Given the description of an element on the screen output the (x, y) to click on. 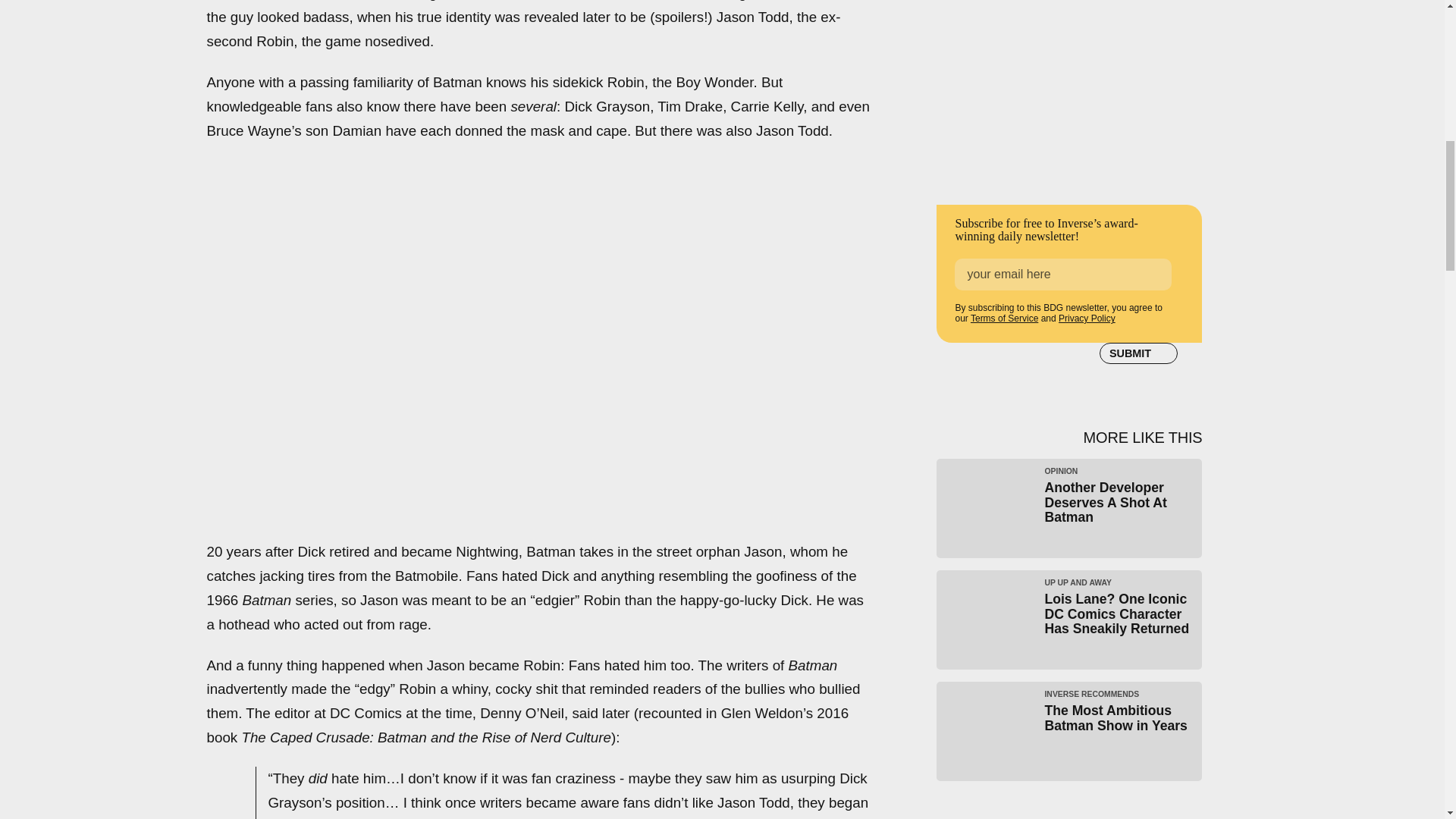
SUBMIT (1069, 731)
Privacy Policy (1138, 353)
Terms of Service (1086, 317)
